Given the description of an element on the screen output the (x, y) to click on. 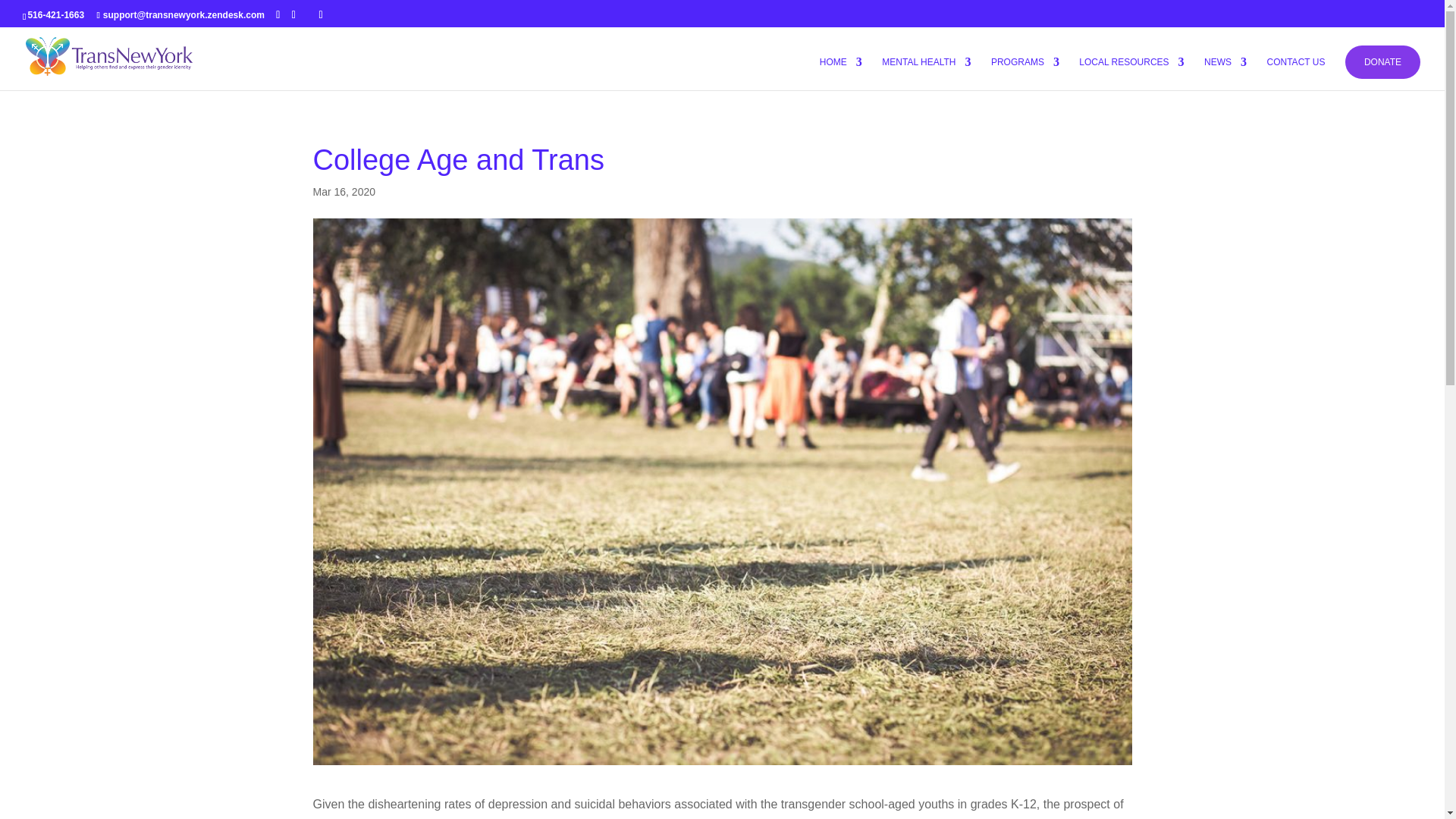
NEWS (1225, 73)
CONTACT US (1295, 73)
LOCAL RESOURCES (1130, 73)
MENTAL HEALTH (926, 73)
PROGRAMS (1025, 73)
HOME (840, 73)
DONATE (1383, 61)
